Given the description of an element on the screen output the (x, y) to click on. 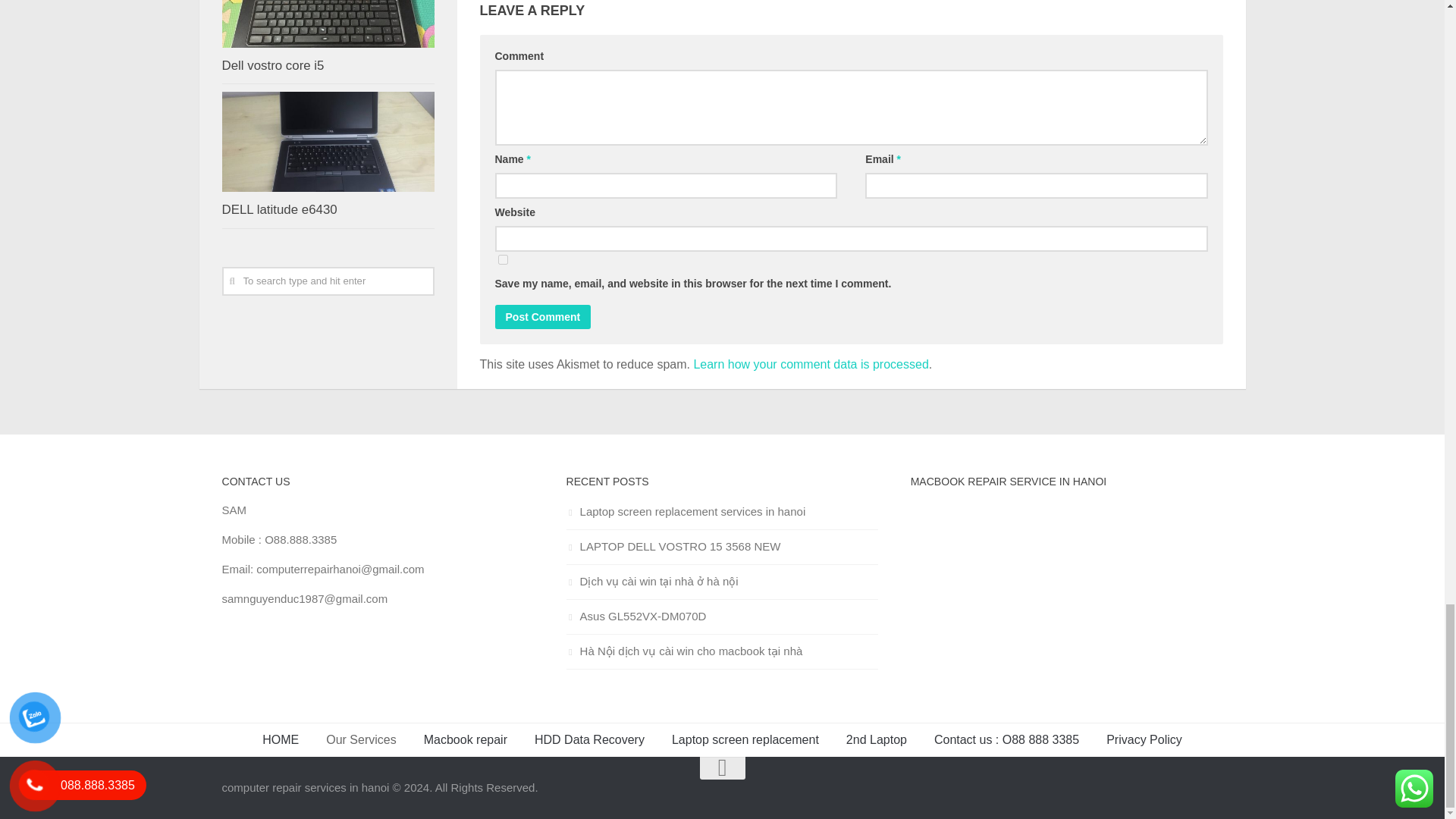
To search type and hit enter (327, 280)
yes (501, 259)
To search type and hit enter (327, 280)
Post Comment (543, 316)
